Given the description of an element on the screen output the (x, y) to click on. 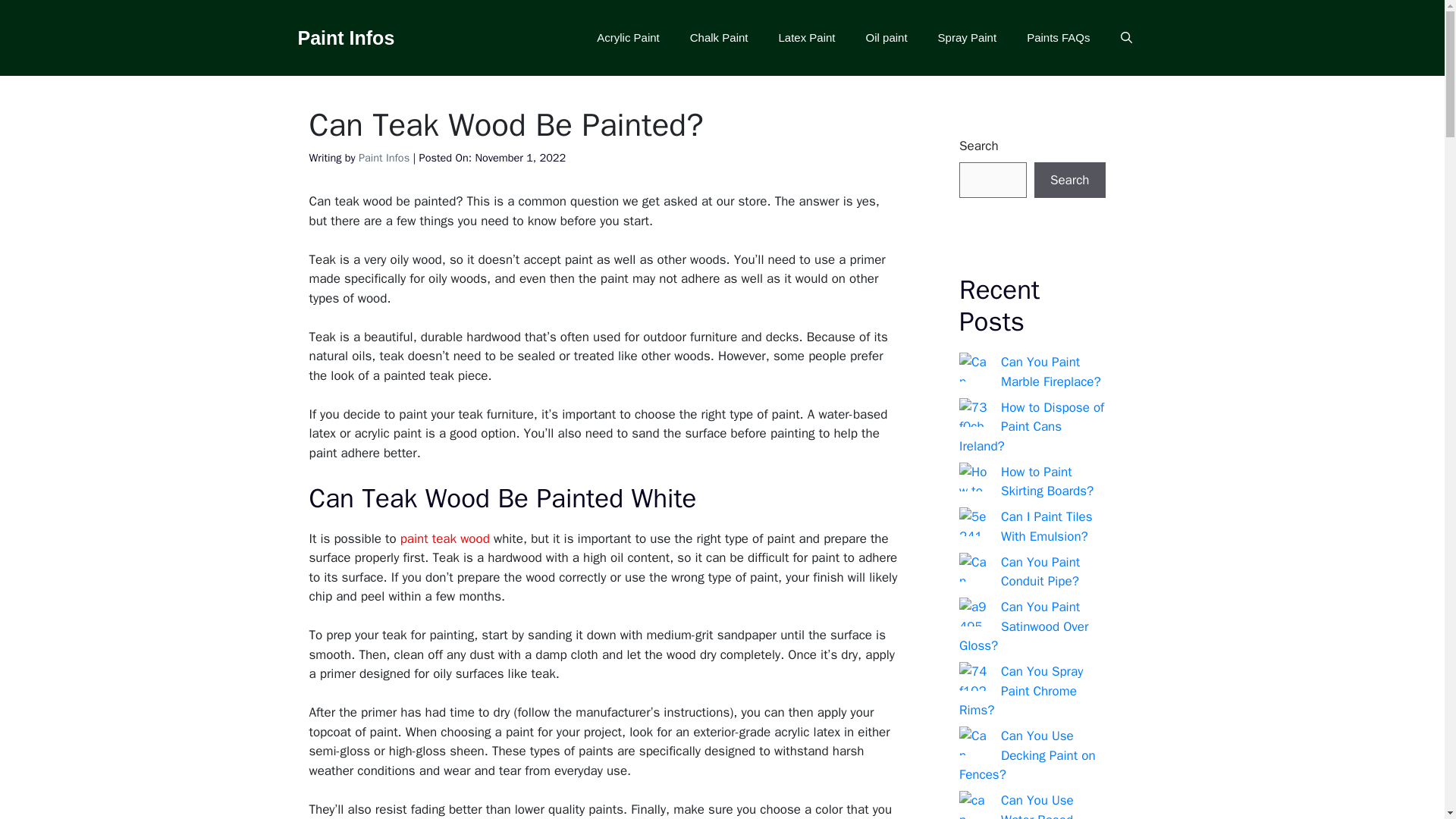
Oil paint (886, 37)
Can I Paint Tiles With Emulsion? 2 (973, 521)
How to Dispose of Paint Cans Ireland? 1 (973, 411)
Can You Spray Paint Chrome Rims? 4 (973, 676)
View all posts by Paint Infos (383, 157)
paint teak wood (444, 538)
Paints FAQs (1058, 37)
paint teak wood (444, 538)
Chalk Paint (718, 37)
Can You Paint Conduit Pipe? (973, 566)
